Given the description of an element on the screen output the (x, y) to click on. 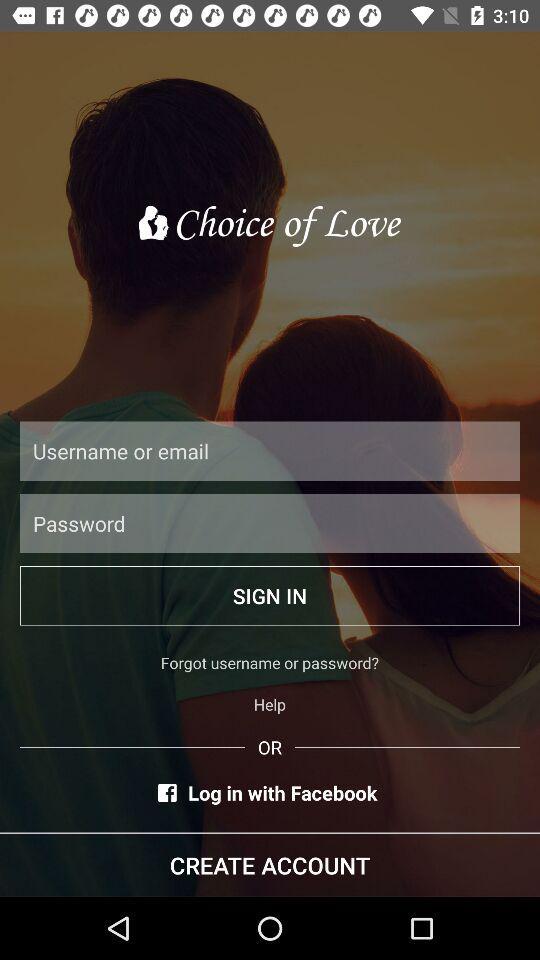
type your email (269, 450)
